Given the description of an element on the screen output the (x, y) to click on. 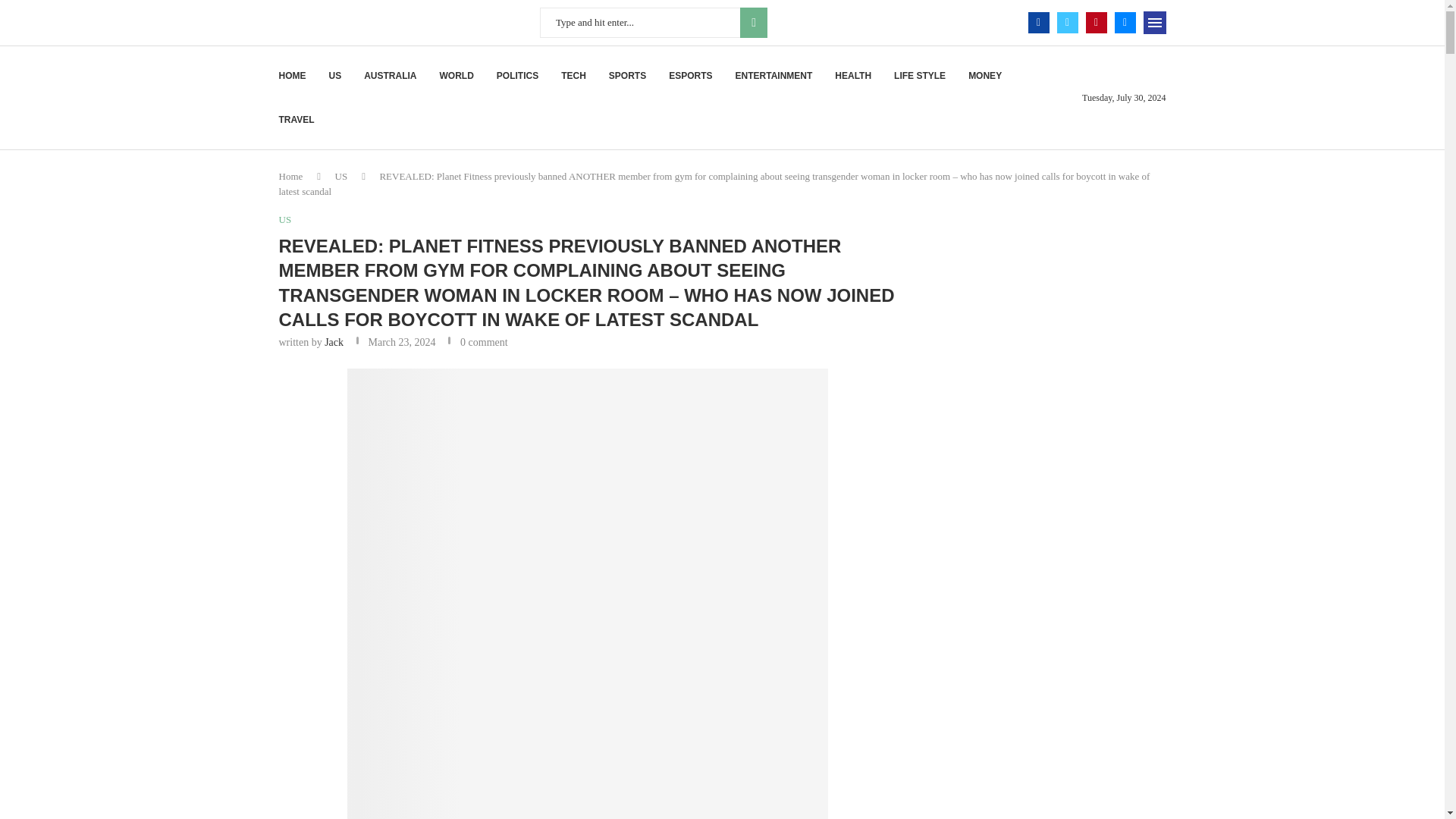
ESPORTS (689, 75)
POLITICS (517, 75)
LIFE STYLE (918, 75)
SEARCH (753, 22)
AUSTRALIA (390, 75)
ENTERTAINMENT (773, 75)
